Given the description of an element on the screen output the (x, y) to click on. 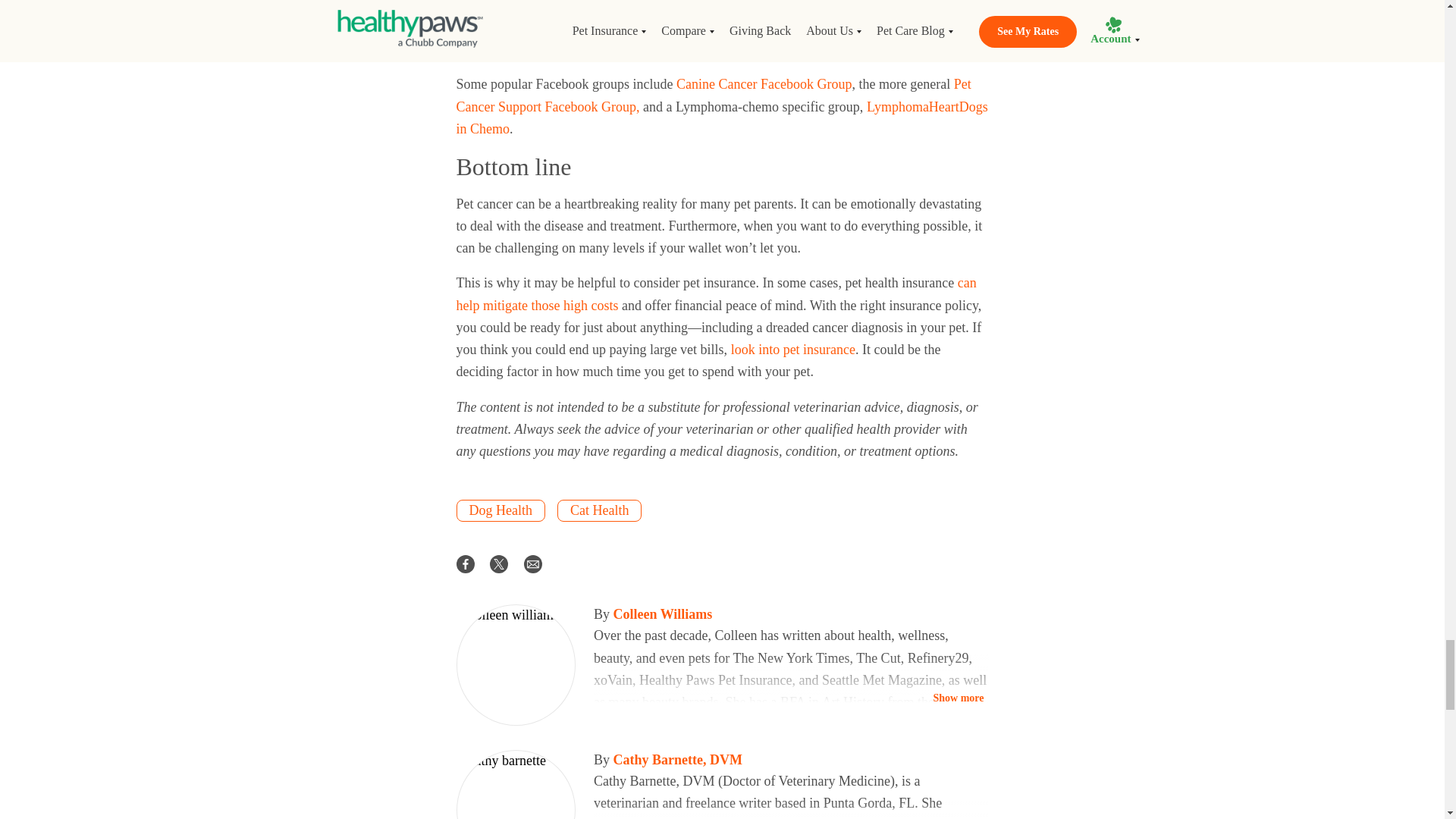
Share Post over Email (531, 562)
Share Post on Twitter (498, 562)
